Given the description of an element on the screen output the (x, y) to click on. 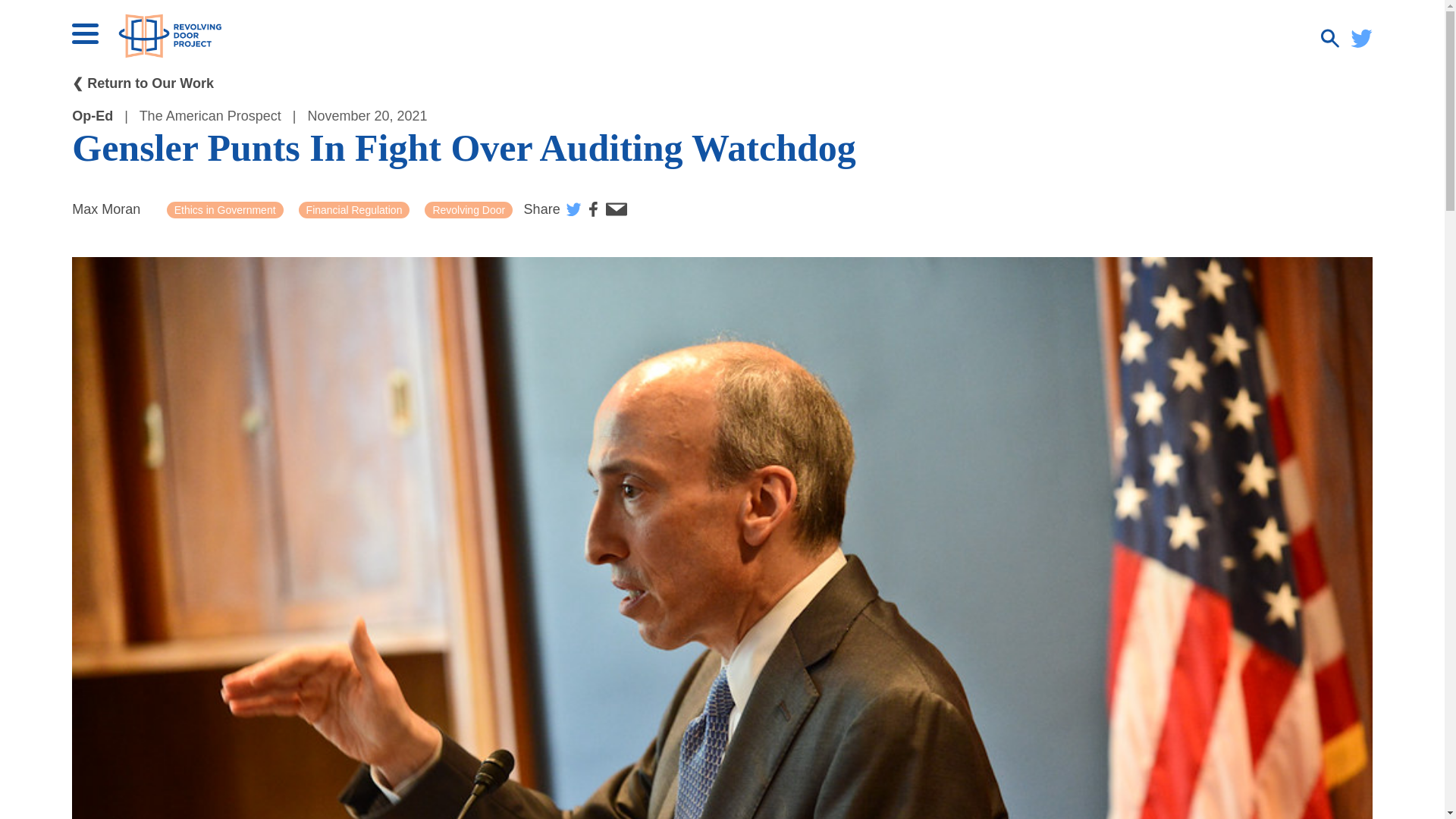
Search Bar Created with Sketch. (1329, 37)
Search Bar Created with Sketch. (1331, 42)
Ethics in Government (225, 209)
Financial Regulation (354, 209)
Revolving Door (468, 209)
Op-Ed (92, 115)
Max Moran (105, 209)
